Given the description of an element on the screen output the (x, y) to click on. 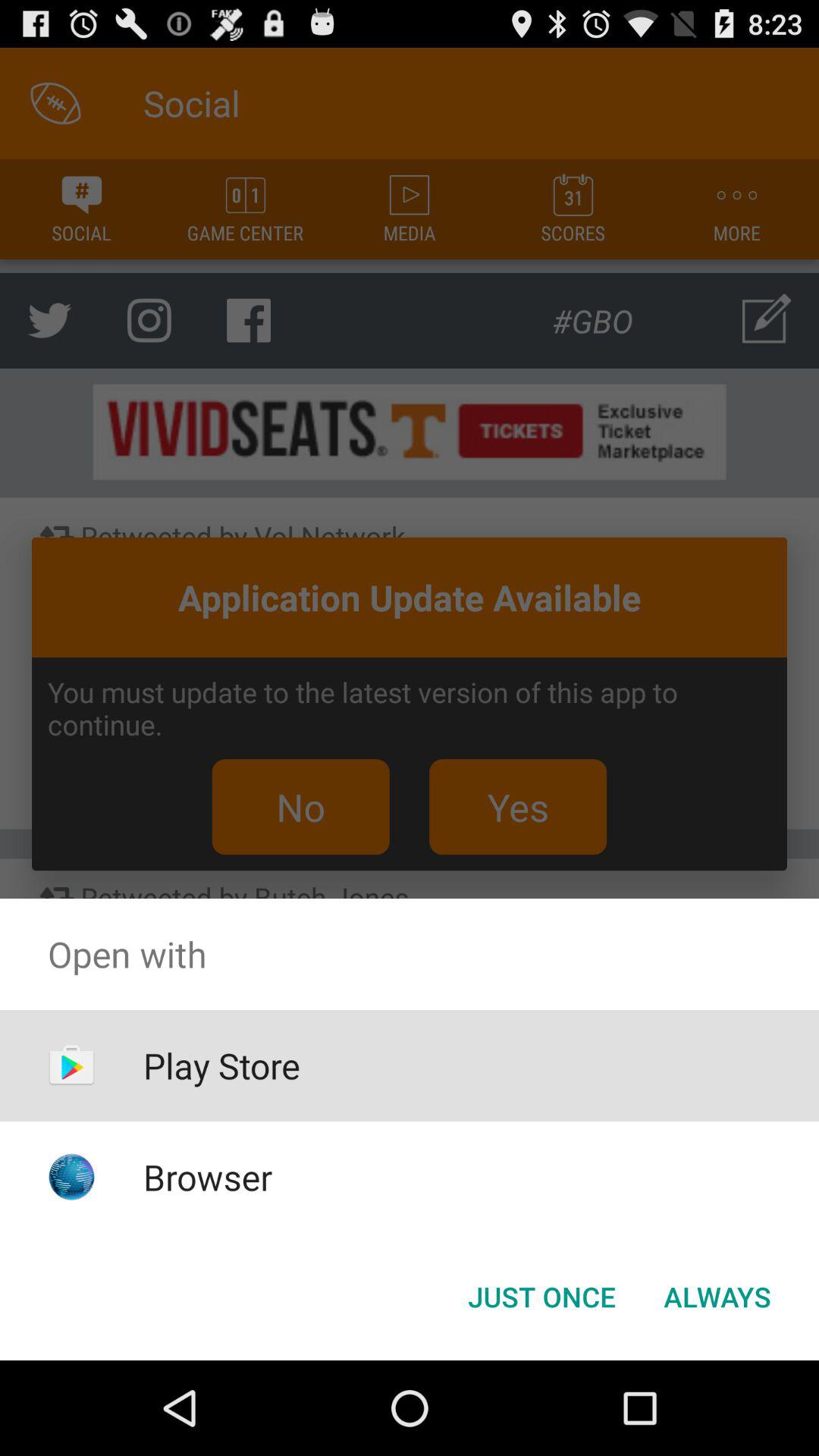
turn on the always at the bottom right corner (717, 1296)
